Given the description of an element on the screen output the (x, y) to click on. 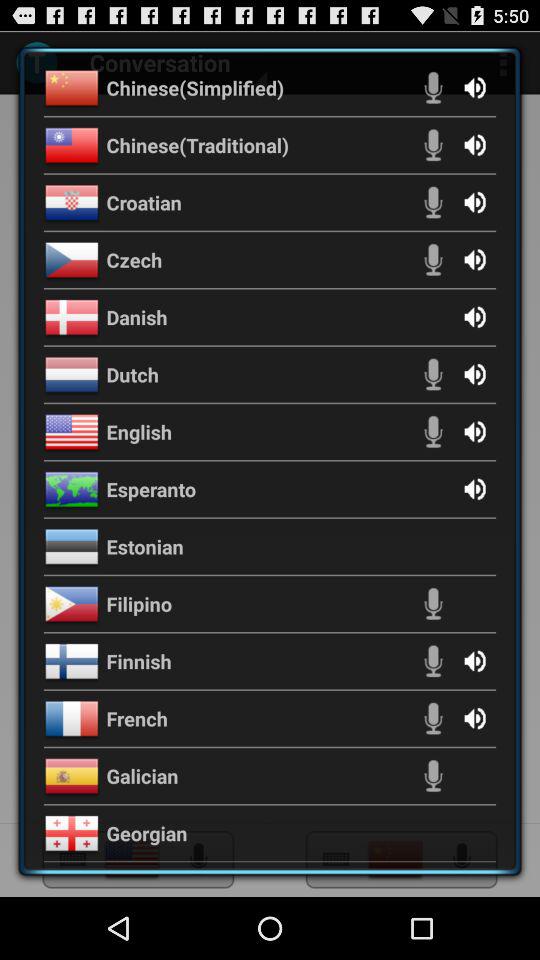
choose app above the croatian icon (197, 144)
